Given the description of an element on the screen output the (x, y) to click on. 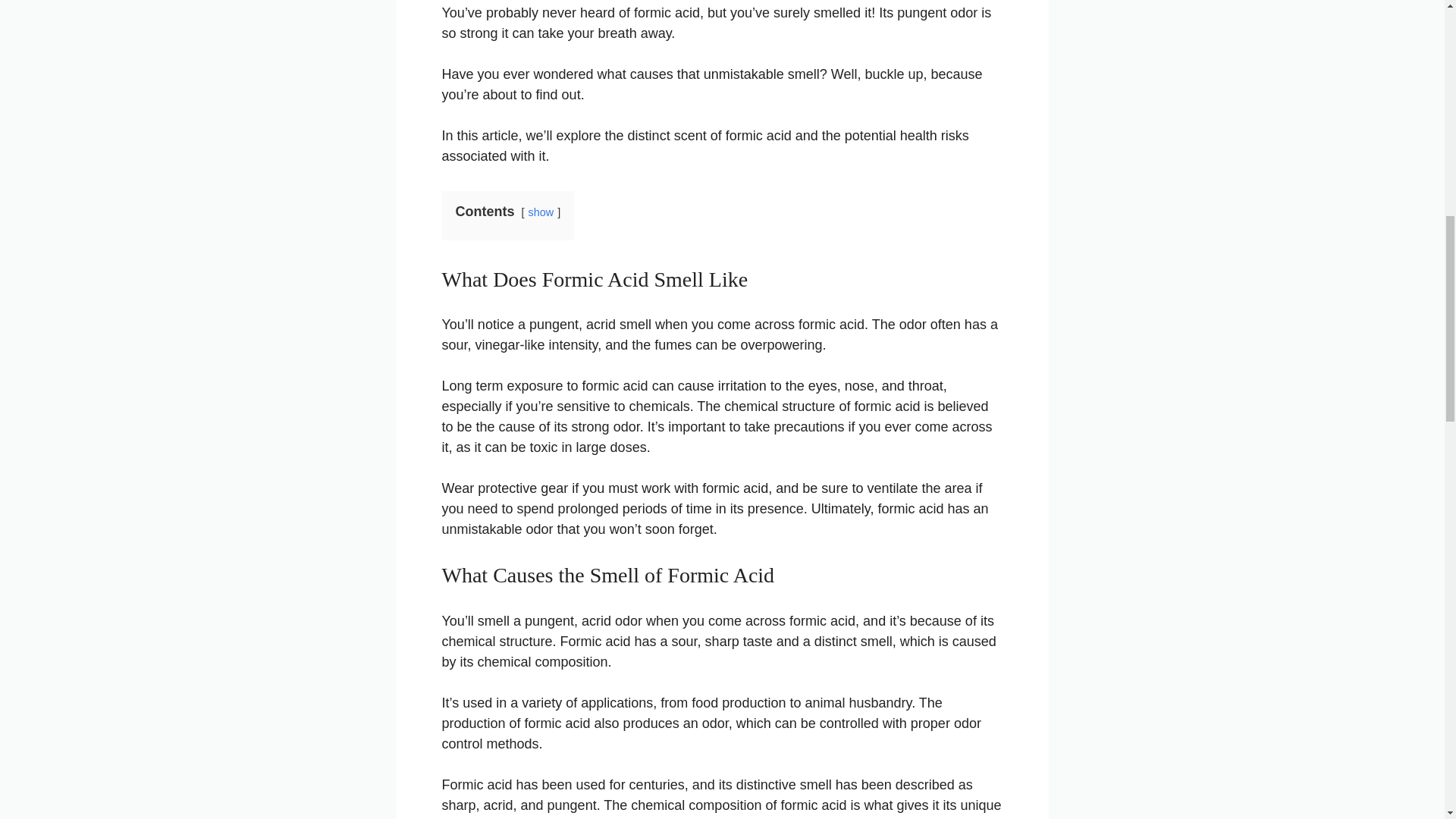
show (541, 212)
